Given the description of an element on the screen output the (x, y) to click on. 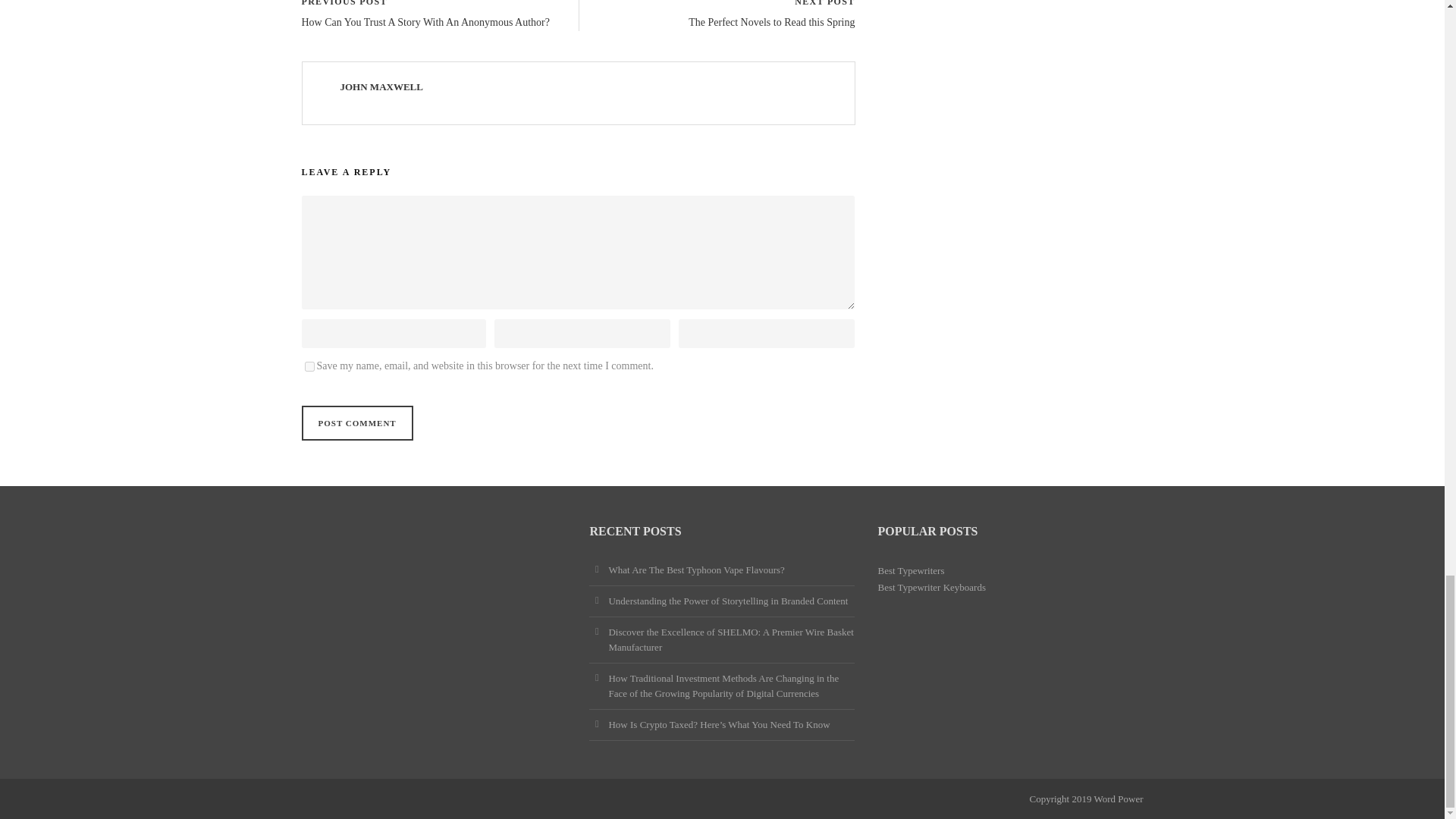
Post Comment (357, 422)
yes (309, 366)
Posts by John Maxwell (380, 86)
